Given the description of an element on the screen output the (x, y) to click on. 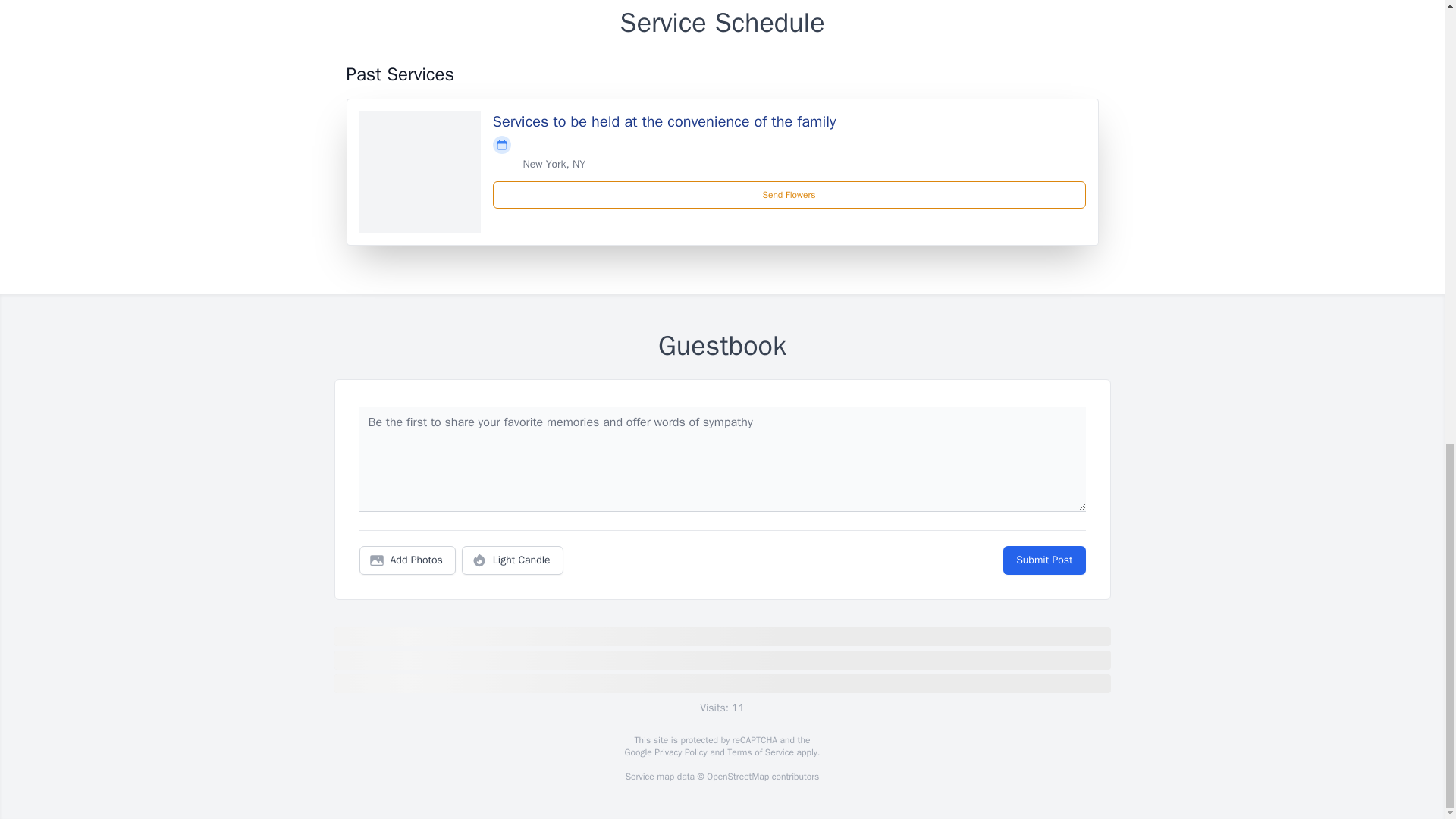
New York, NY (554, 164)
Light Candle (512, 560)
Add Photos (407, 560)
OpenStreetMap (737, 776)
Send Flowers (789, 194)
Terms of Service (759, 752)
Privacy Policy (679, 752)
Submit Post (1043, 560)
